Given the description of an element on the screen output the (x, y) to click on. 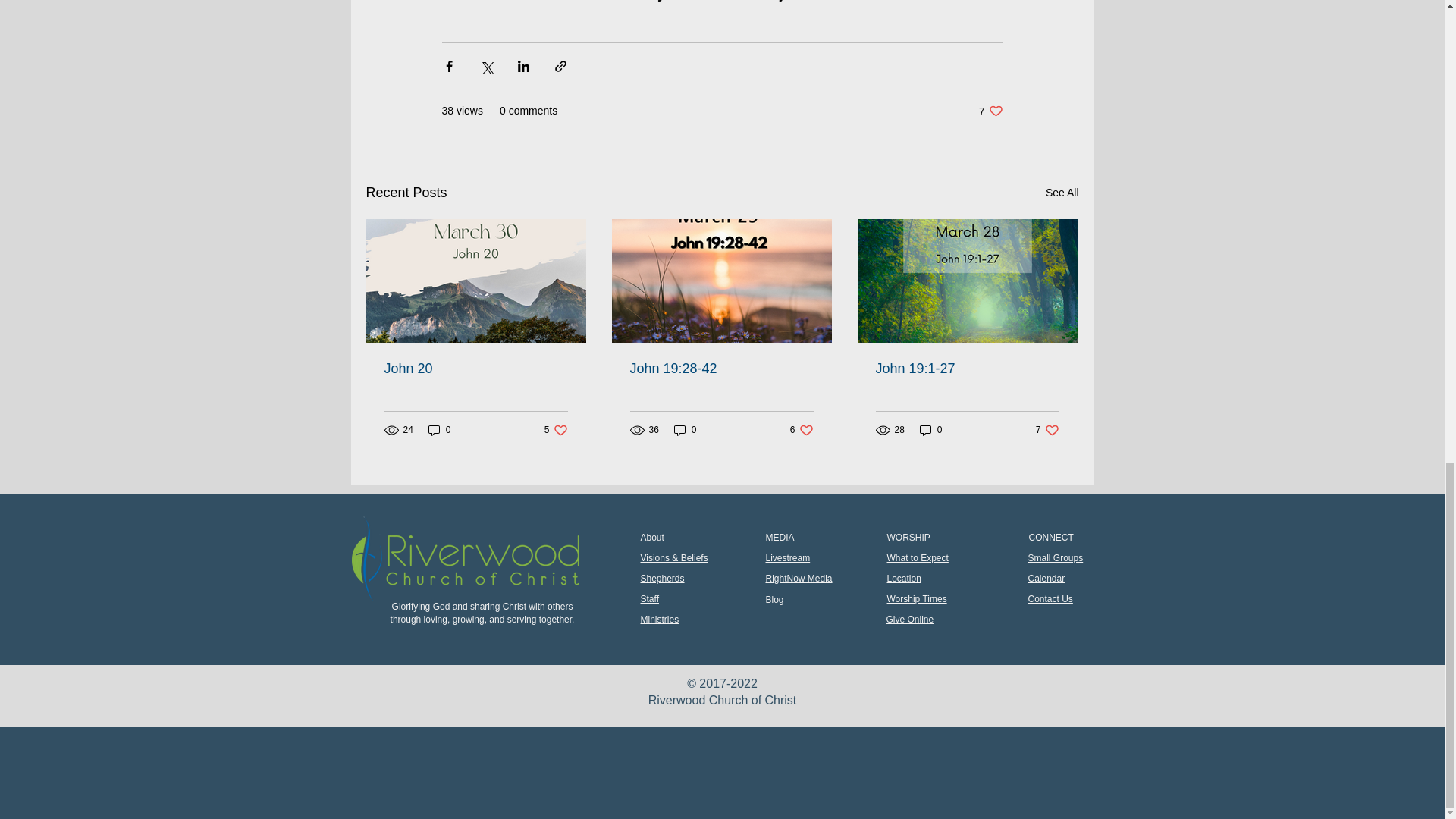
John 19:1-27 (966, 368)
0 (801, 430)
John 19:28-42 (685, 430)
John 20 (720, 368)
0 (475, 368)
See All (439, 430)
Logo3b.png (555, 430)
